Given the description of an element on the screen output the (x, y) to click on. 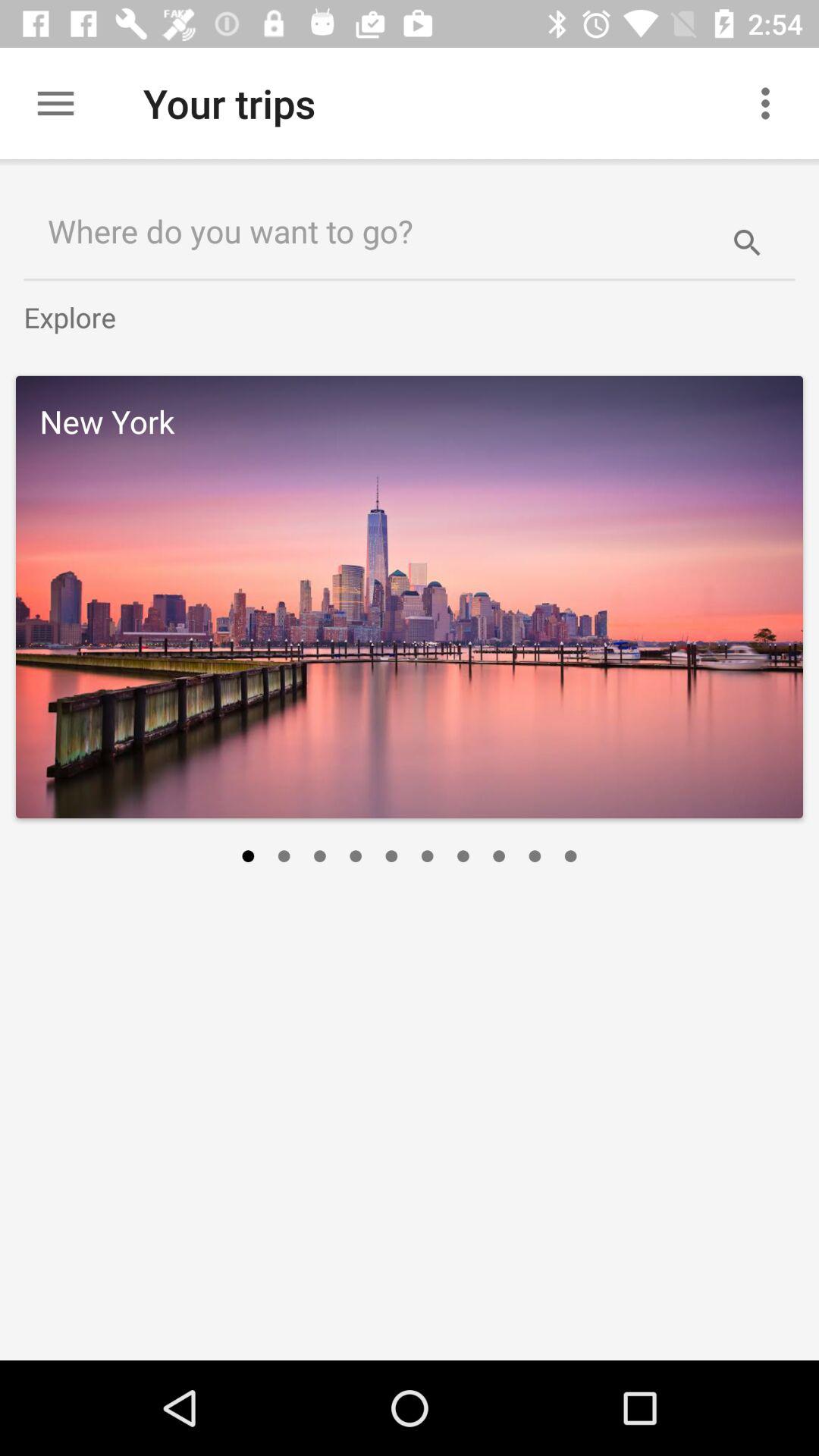
choose icon on the right (570, 856)
